Given the description of an element on the screen output the (x, y) to click on. 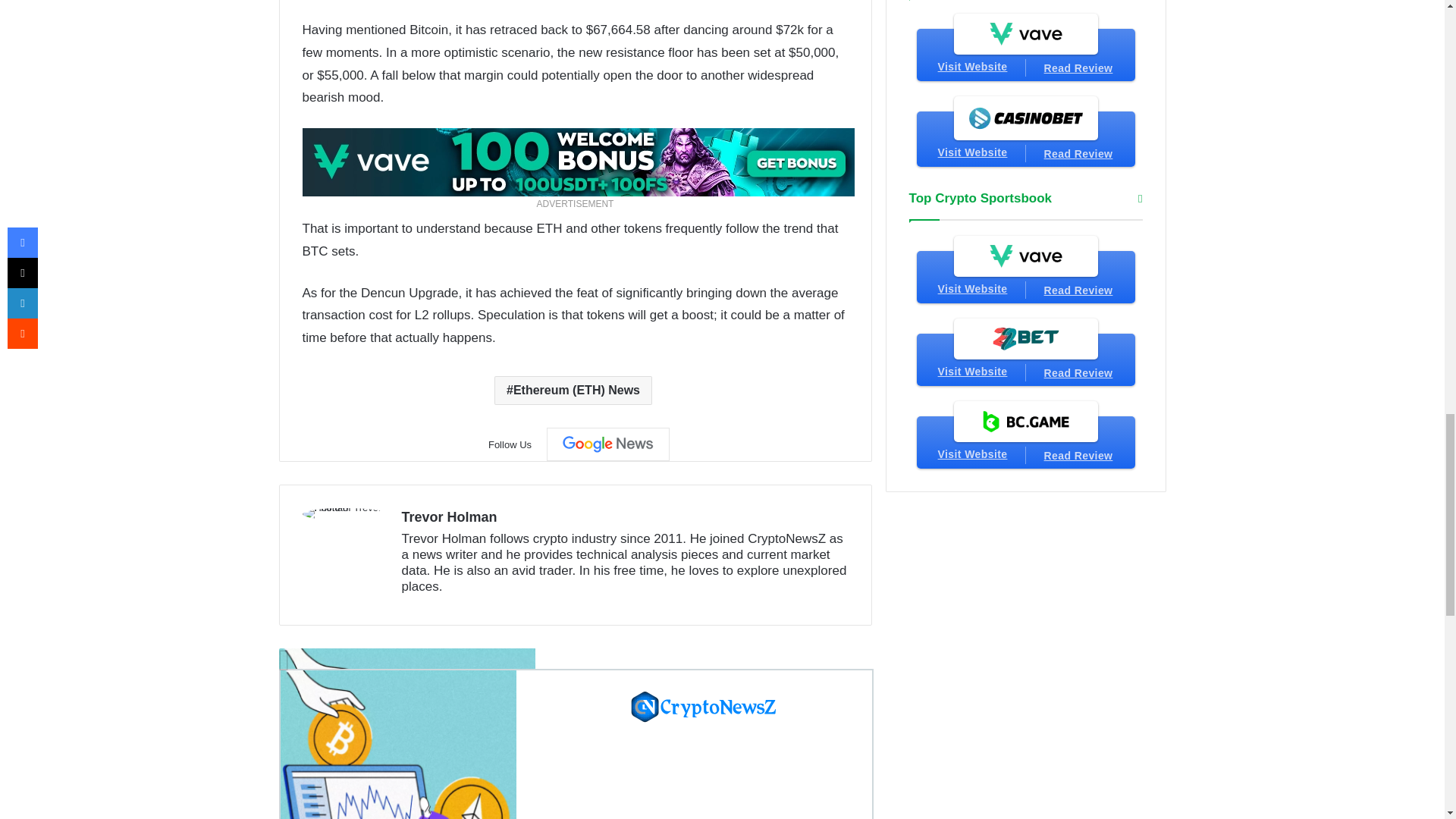
Google News (608, 444)
